Given the description of an element on the screen output the (x, y) to click on. 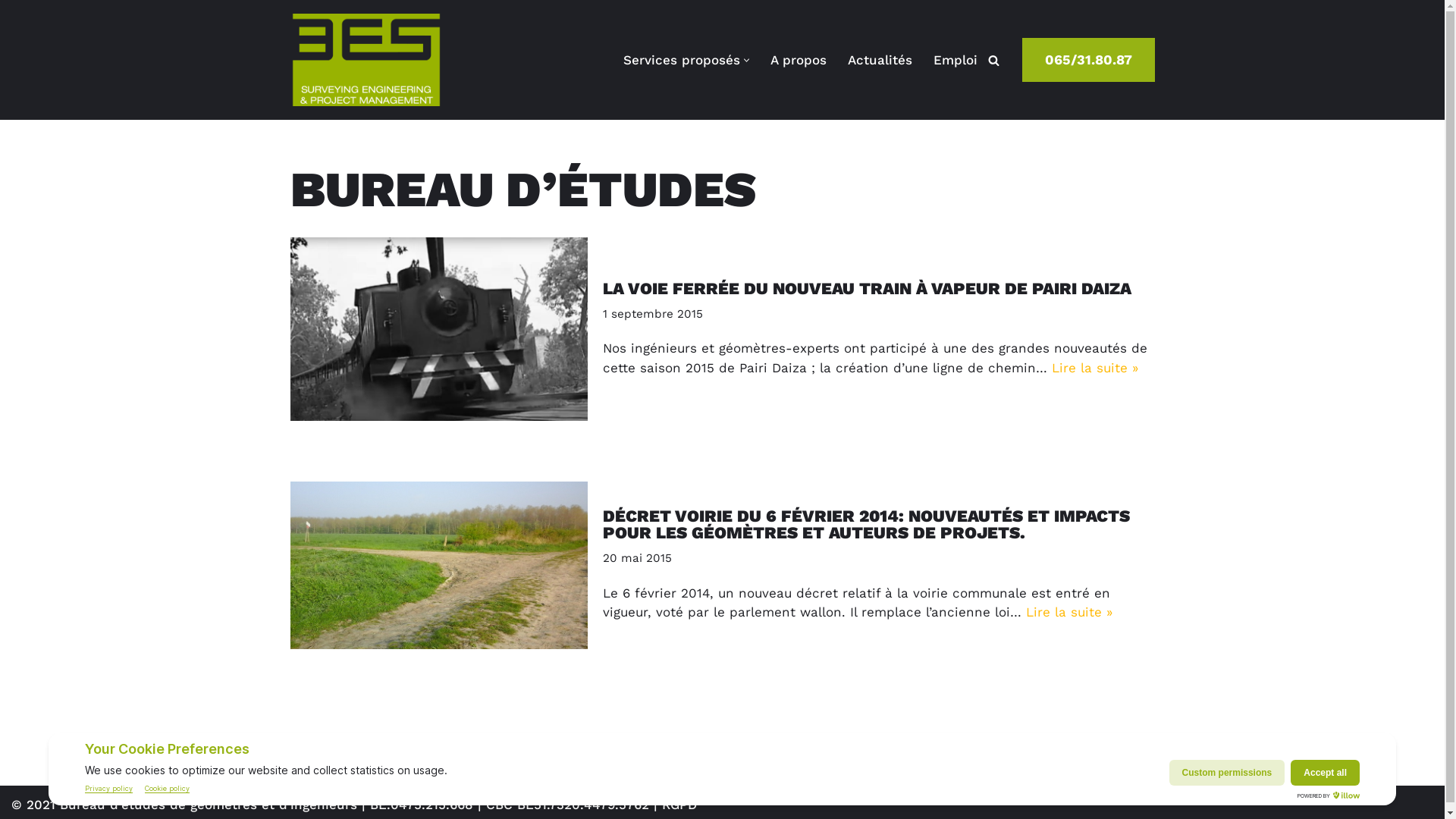
065/31.80.87 Element type: text (1088, 59)
Emploi Element type: text (954, 59)
Aller au contenu Element type: text (11, 31)
RGPD Element type: text (679, 804)
A propos Element type: text (798, 59)
